Given the description of an element on the screen output the (x, y) to click on. 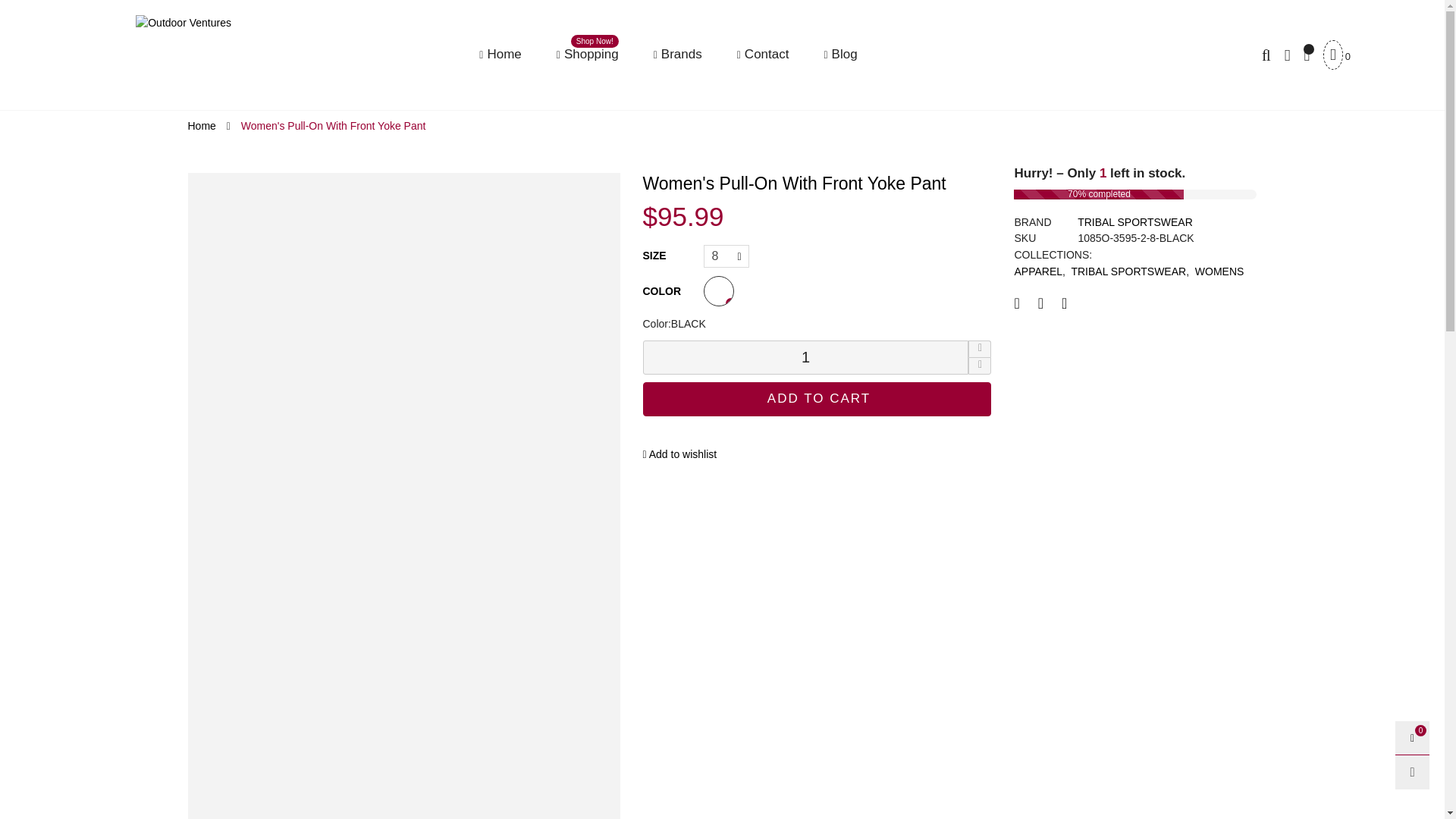
Shopping (587, 54)
Home (500, 54)
0 (1336, 54)
Brands (677, 54)
Blog (587, 54)
Search (840, 54)
ADD TO CART (1270, 54)
Women's Pull-On With Front Yoke Pant (817, 399)
Contact (333, 125)
